Given the description of an element on the screen output the (x, y) to click on. 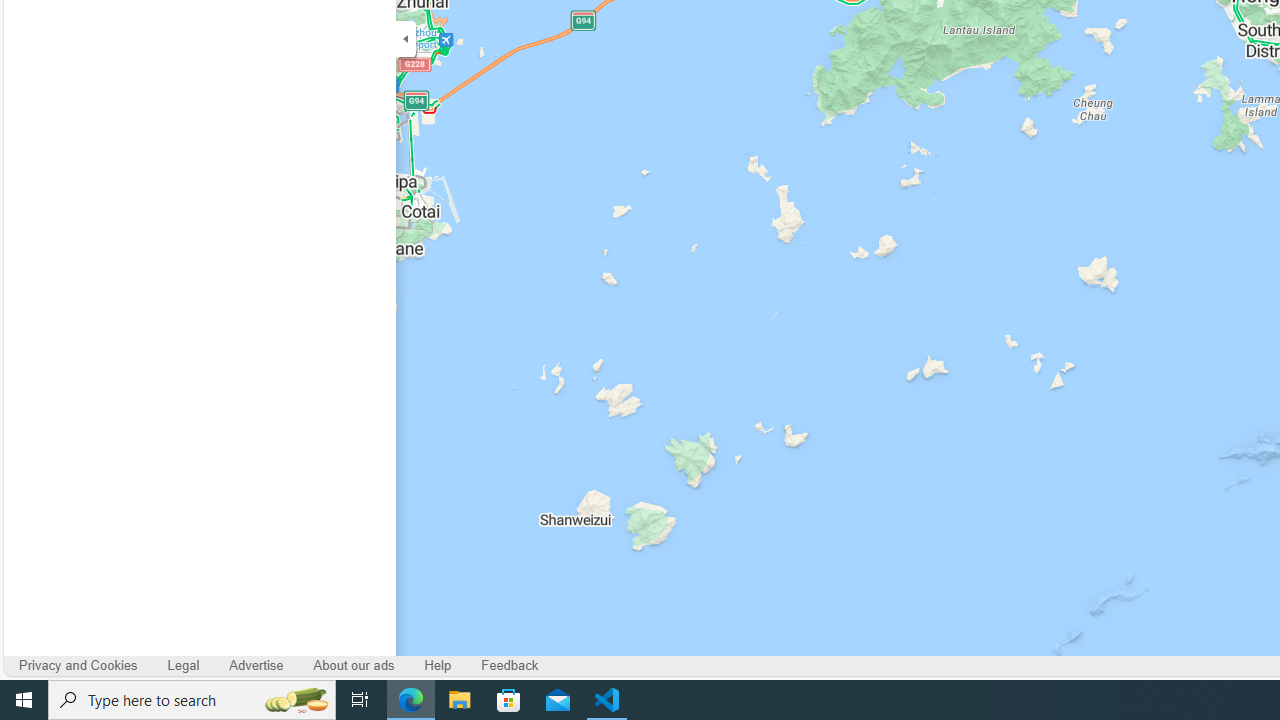
About our ads (354, 665)
Privacy and Cookies (78, 665)
Expand/Collapse Cards (405, 38)
Privacy and Cookies (78, 665)
About our ads (353, 665)
